Given the description of an element on the screen output the (x, y) to click on. 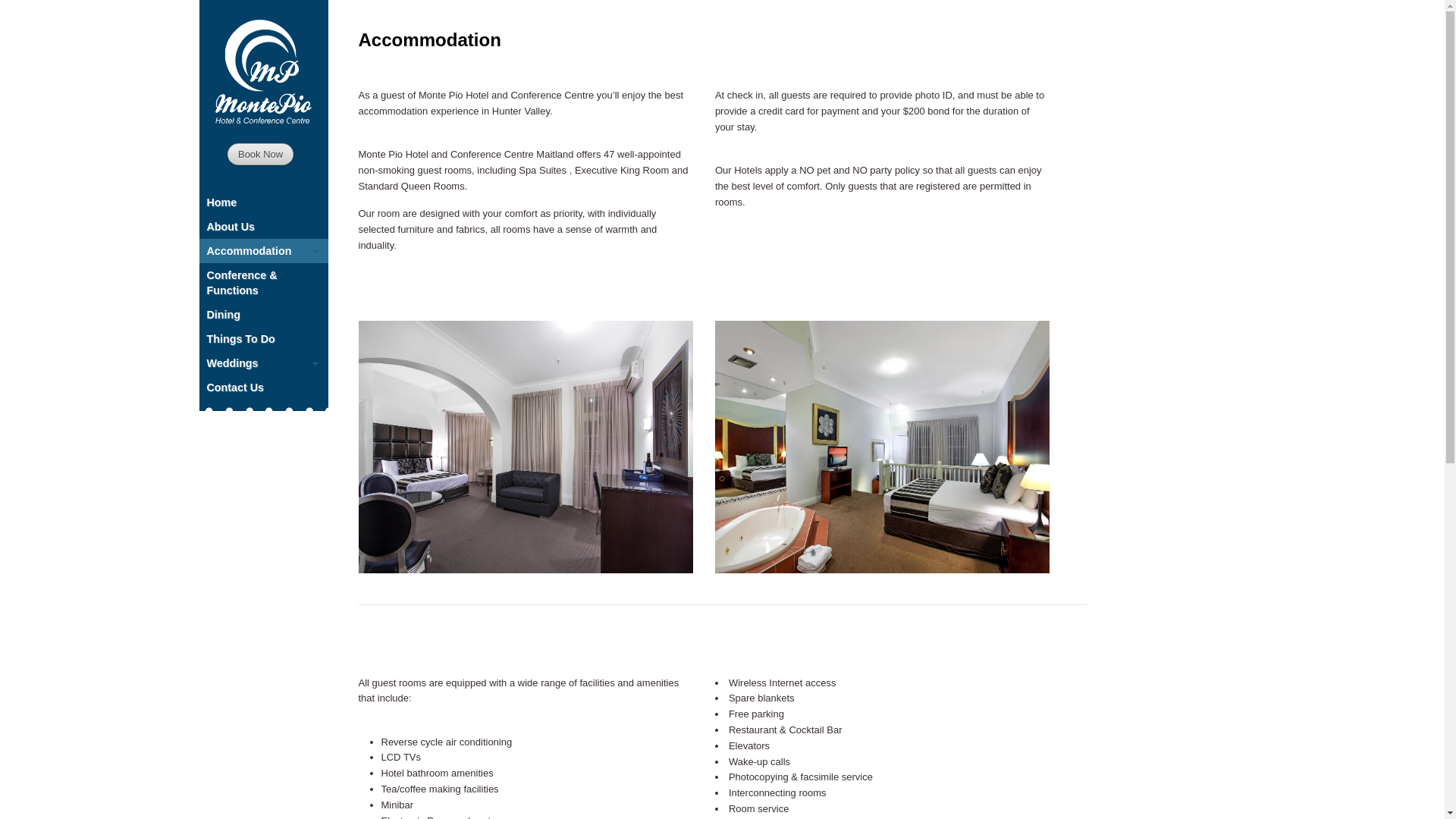
Accommodation Element type: text (262, 250)
Weddings Element type: text (262, 363)
Home Element type: text (262, 202)
Things To Do Element type: text (262, 338)
Book Now Element type: text (260, 154)
About Us Element type: text (262, 226)
Contact Us Element type: text (262, 387)
Dining Element type: text (262, 314)
Conference & Functions Element type: text (262, 282)
